Given the description of an element on the screen output the (x, y) to click on. 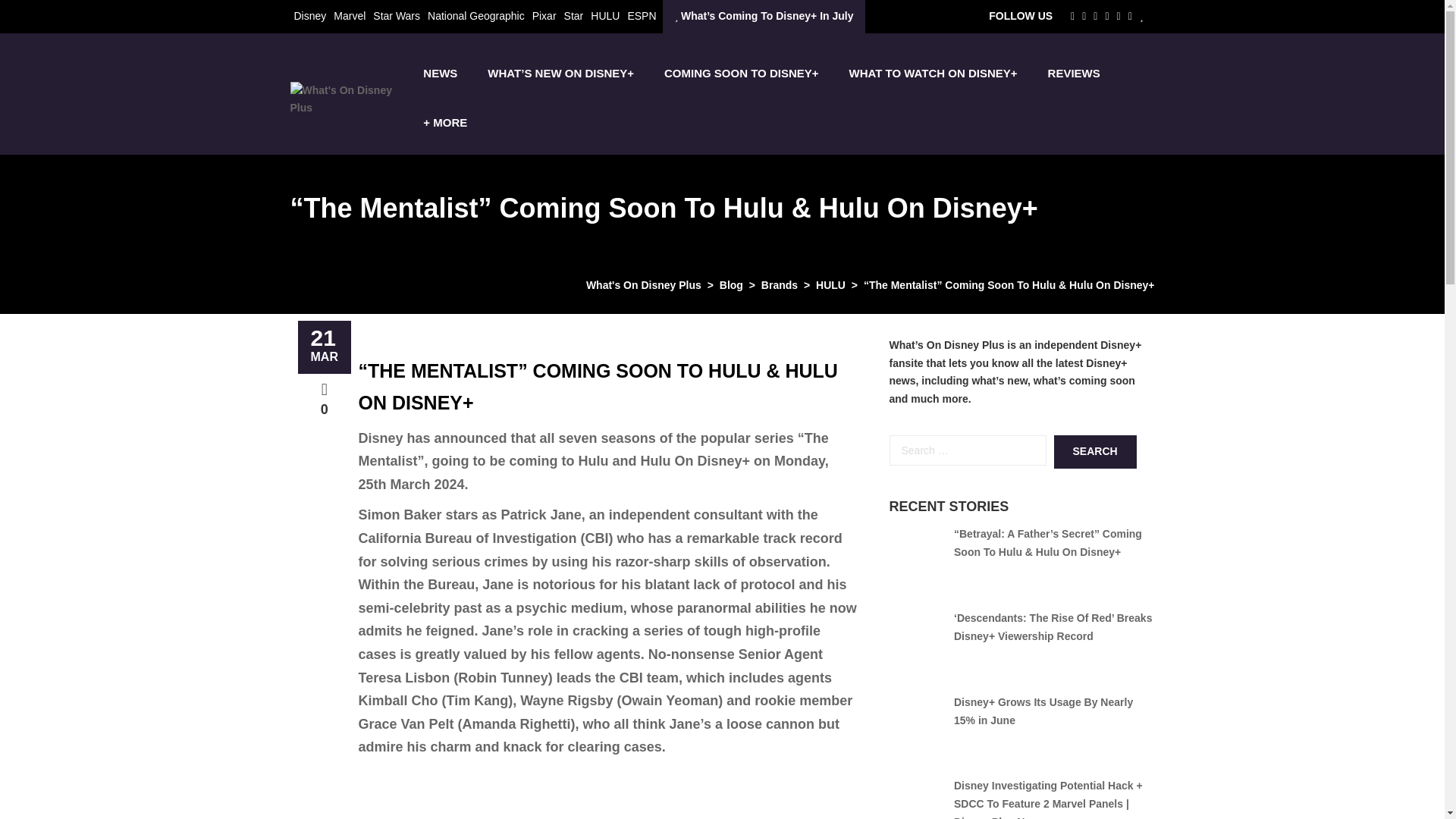
Go to Blog. (730, 285)
HULU (605, 15)
National Geographic (476, 15)
ESPN (641, 15)
Disney (310, 15)
Marvel (349, 15)
Pixar (544, 15)
Go to the Brands Category archives. (779, 285)
NEWS (439, 72)
Go to the HULU Category archives. (830, 285)
Star (573, 15)
Search (1095, 451)
REVIEWS (1073, 72)
Star Wars (396, 15)
Search (1095, 451)
